Given the description of an element on the screen output the (x, y) to click on. 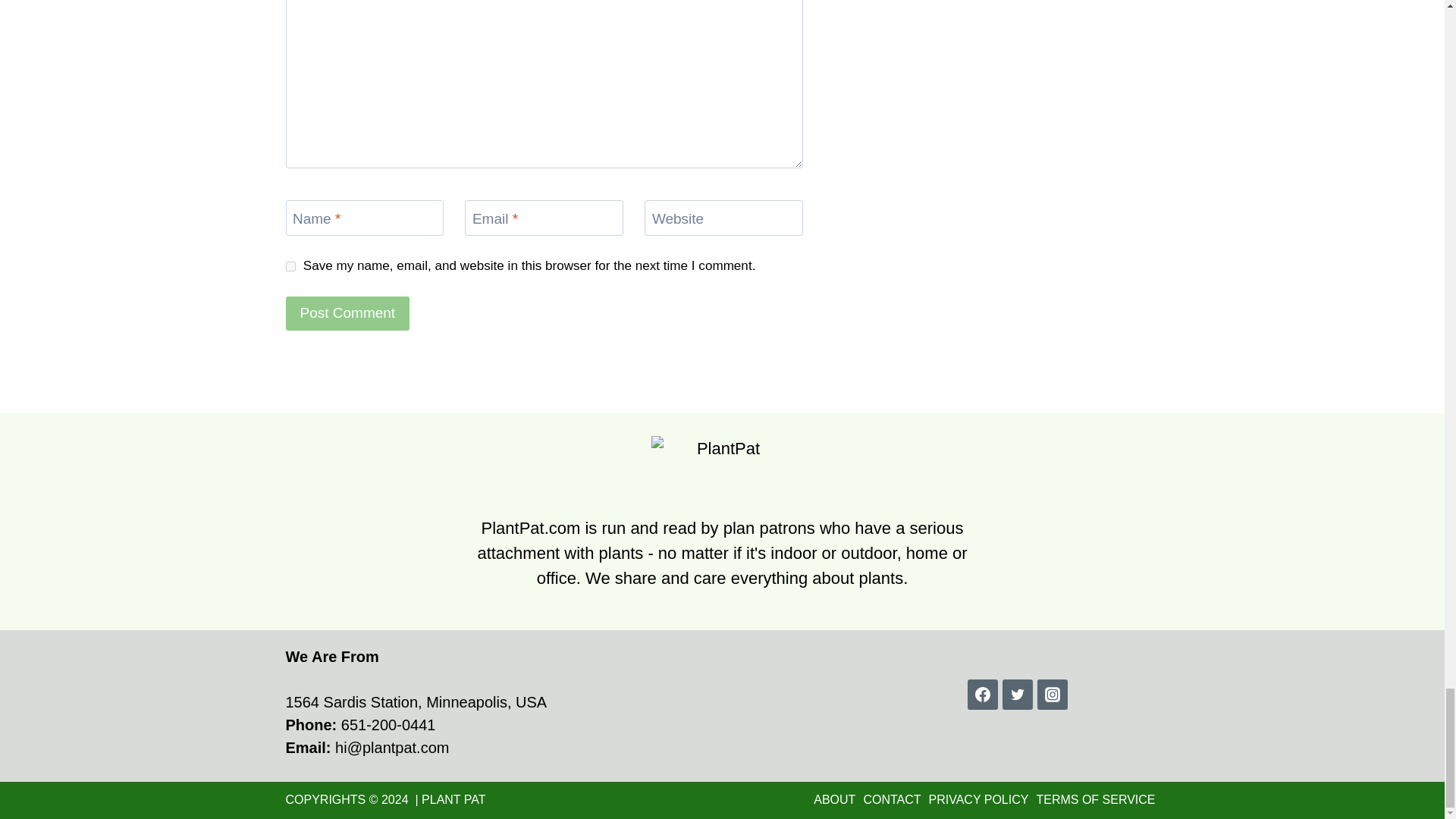
TERMS OF SERVICE (1095, 799)
Post Comment (347, 313)
CONTACT (891, 799)
Post Comment (347, 313)
PRIVACY POLICY (978, 799)
ABOUT (834, 799)
yes (290, 266)
